Given the description of an element on the screen output the (x, y) to click on. 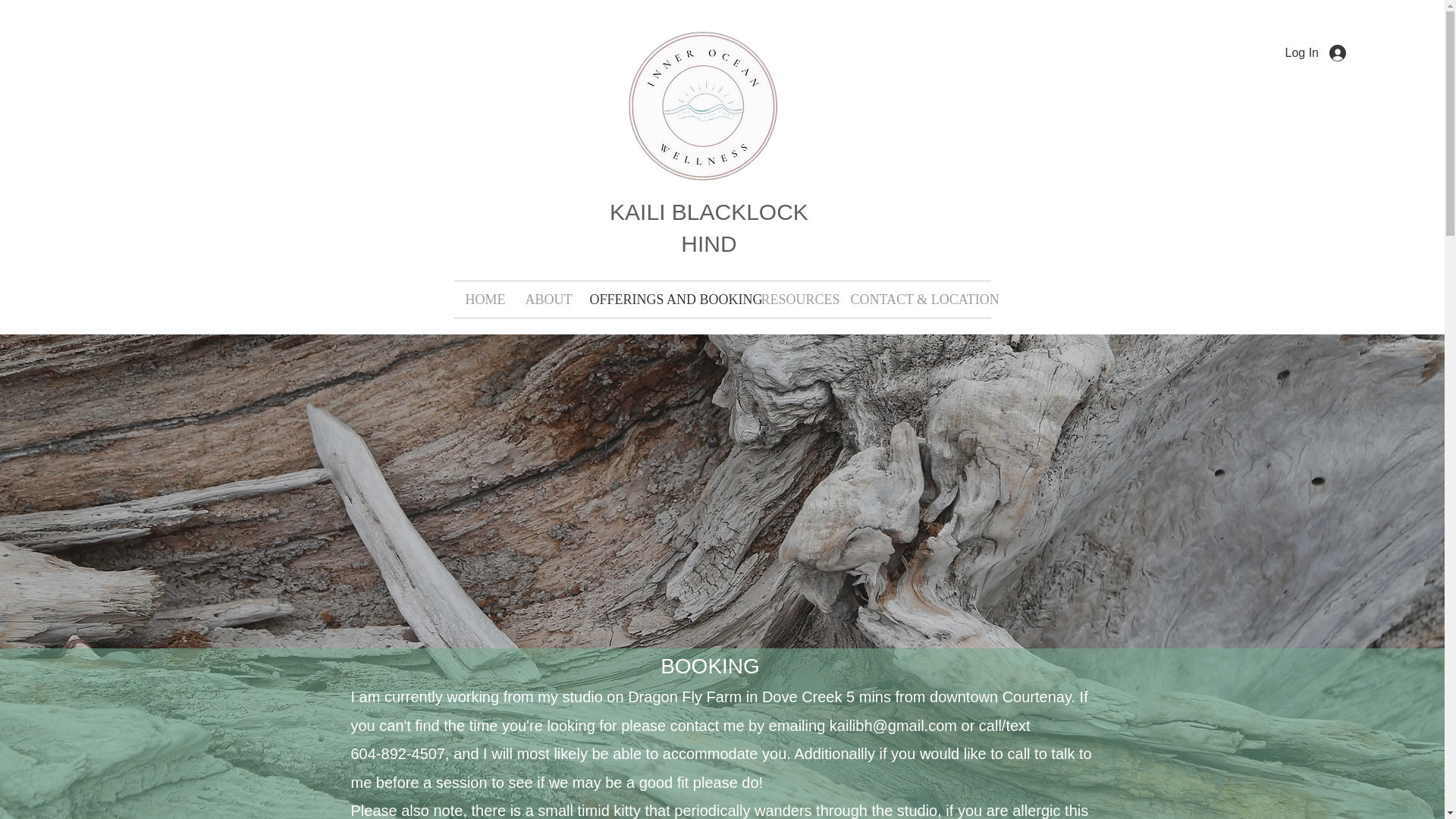
ABOUT (545, 299)
Log In (1315, 53)
RESOURCES (793, 299)
OFFERINGS AND BOOKING (663, 299)
HOME (482, 299)
